Given the description of an element on the screen output the (x, y) to click on. 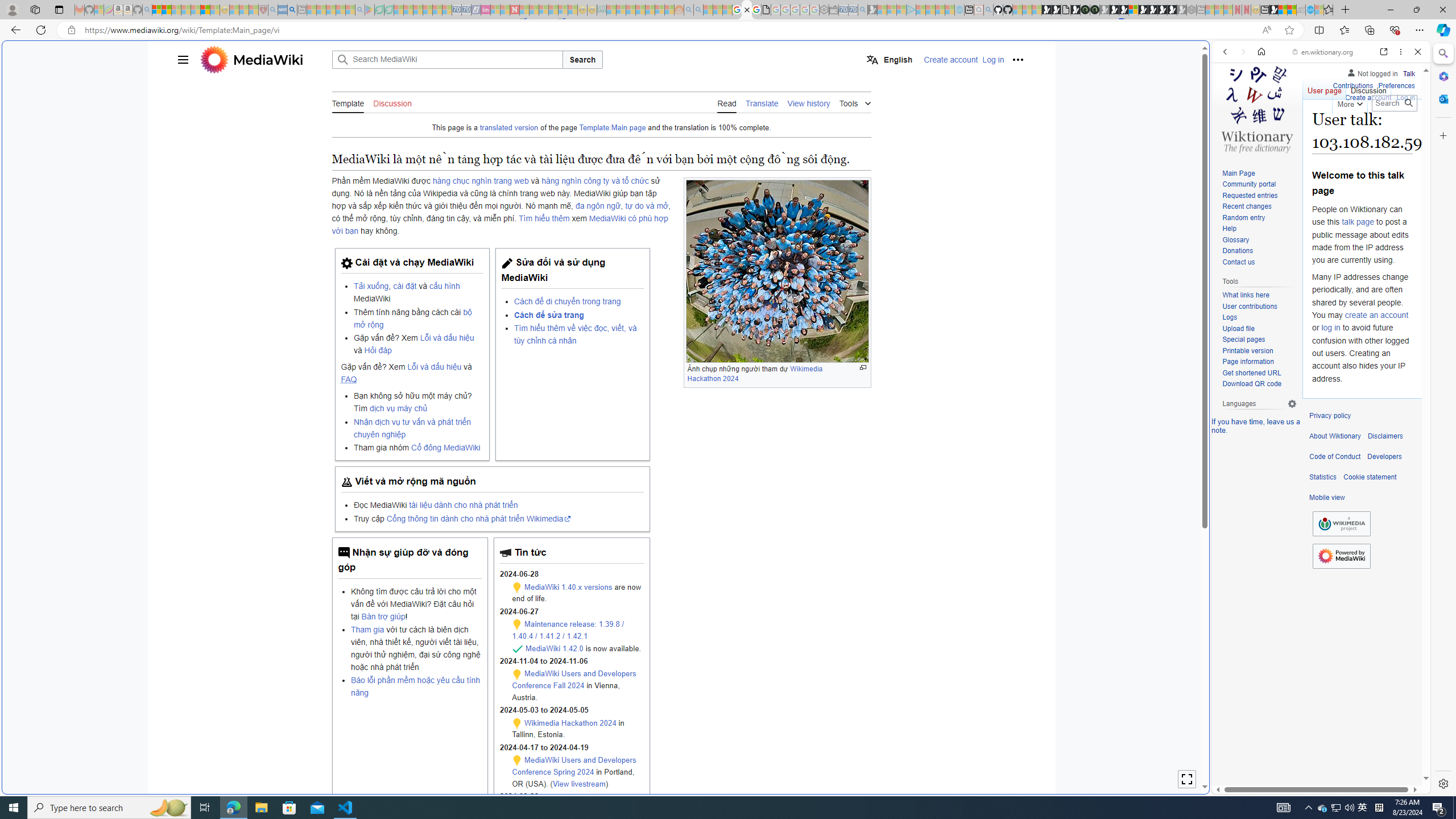
Developers (1384, 456)
Upload file (1259, 328)
AutomationID: footer-poweredbyico (1341, 555)
Template (347, 102)
Wikimedia Foundation (1341, 523)
Contributions (1352, 84)
Visit the main page (1257, 108)
Tabs you've opened (885, 151)
